Given the description of an element on the screen output the (x, y) to click on. 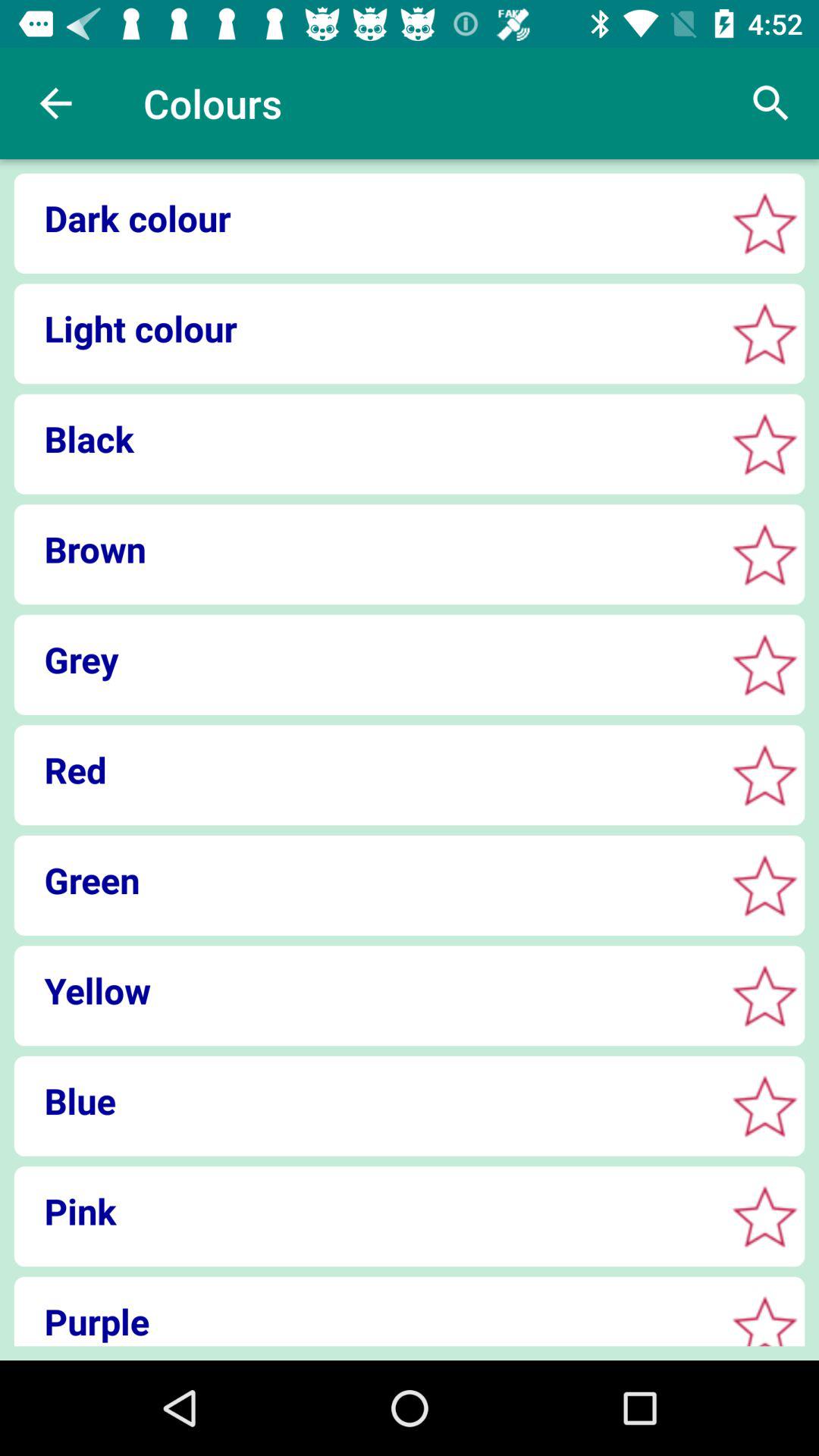
toggle to select grey (764, 664)
